Given the description of an element on the screen output the (x, y) to click on. 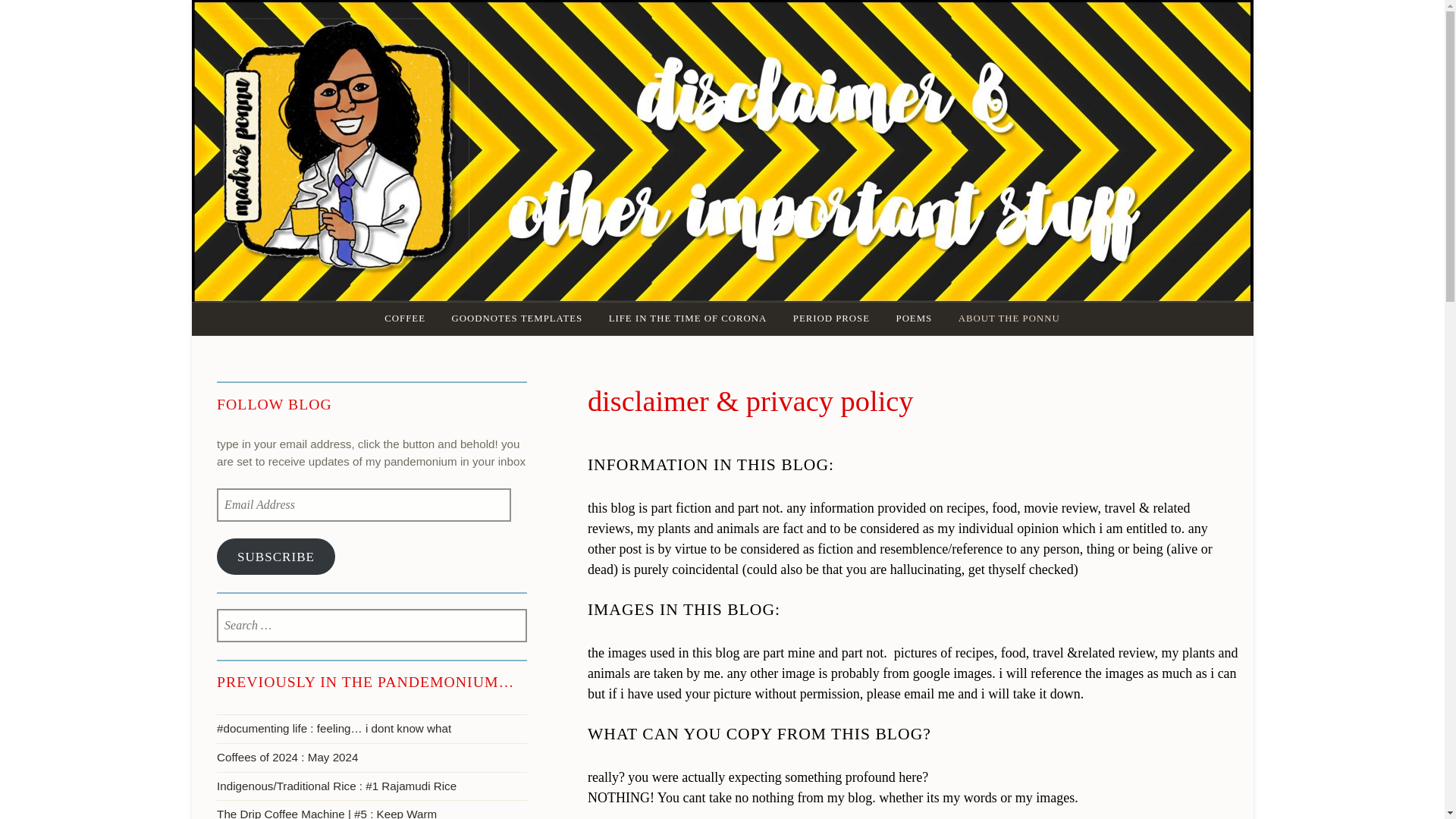
LIFE IN THE TIME OF CORONA (687, 318)
Search (62, 18)
COFFEE (404, 318)
PERIOD PROSE (830, 318)
GOODNOTES TEMPLATES (516, 318)
SUBSCRIBE (275, 556)
POEMS (914, 318)
Coffees of 2024 : May 2024 (371, 757)
ABOUT THE PONNU (1009, 318)
